Given the description of an element on the screen output the (x, y) to click on. 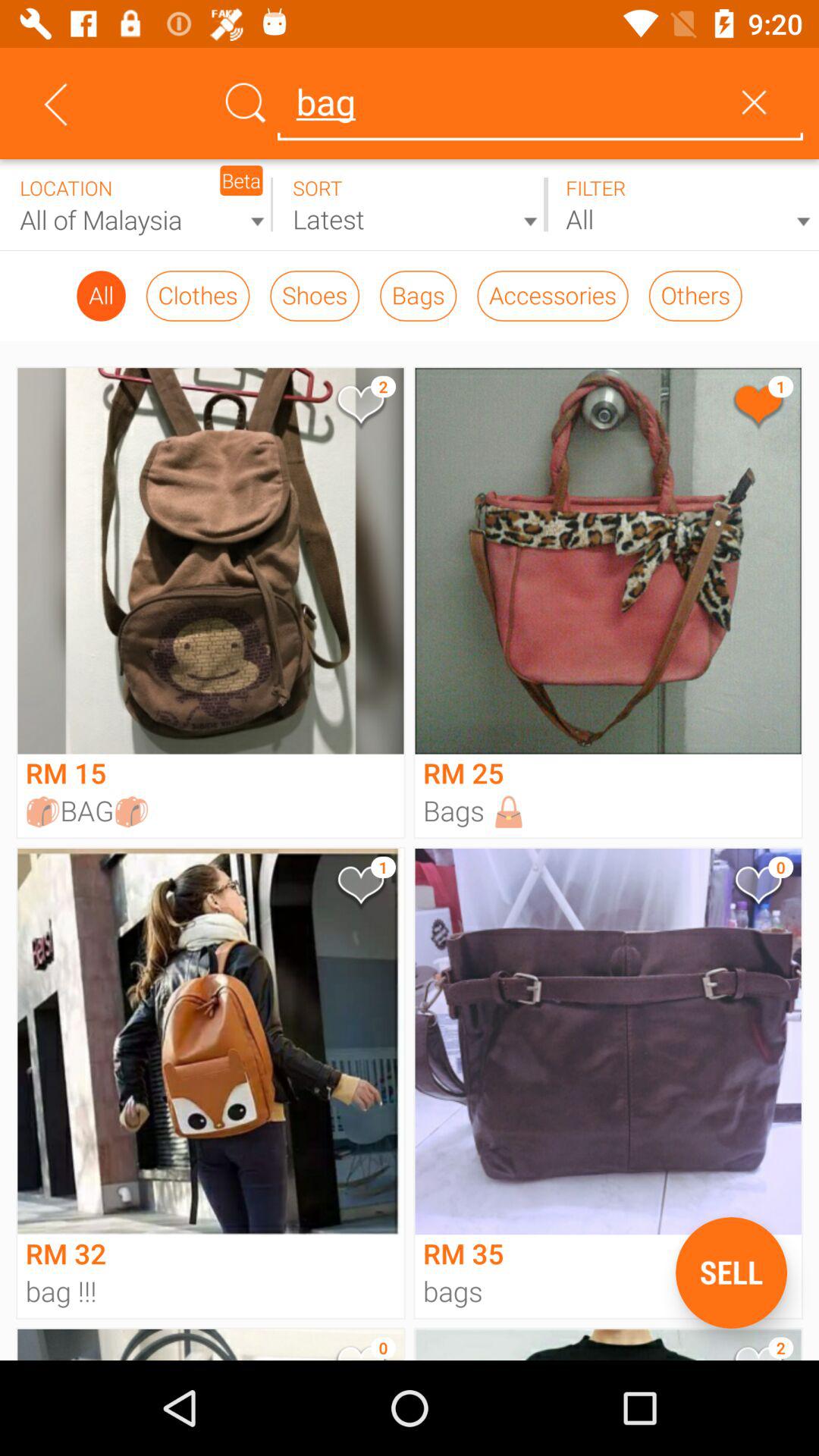
mark as favorite (359, 888)
